Given the description of an element on the screen output the (x, y) to click on. 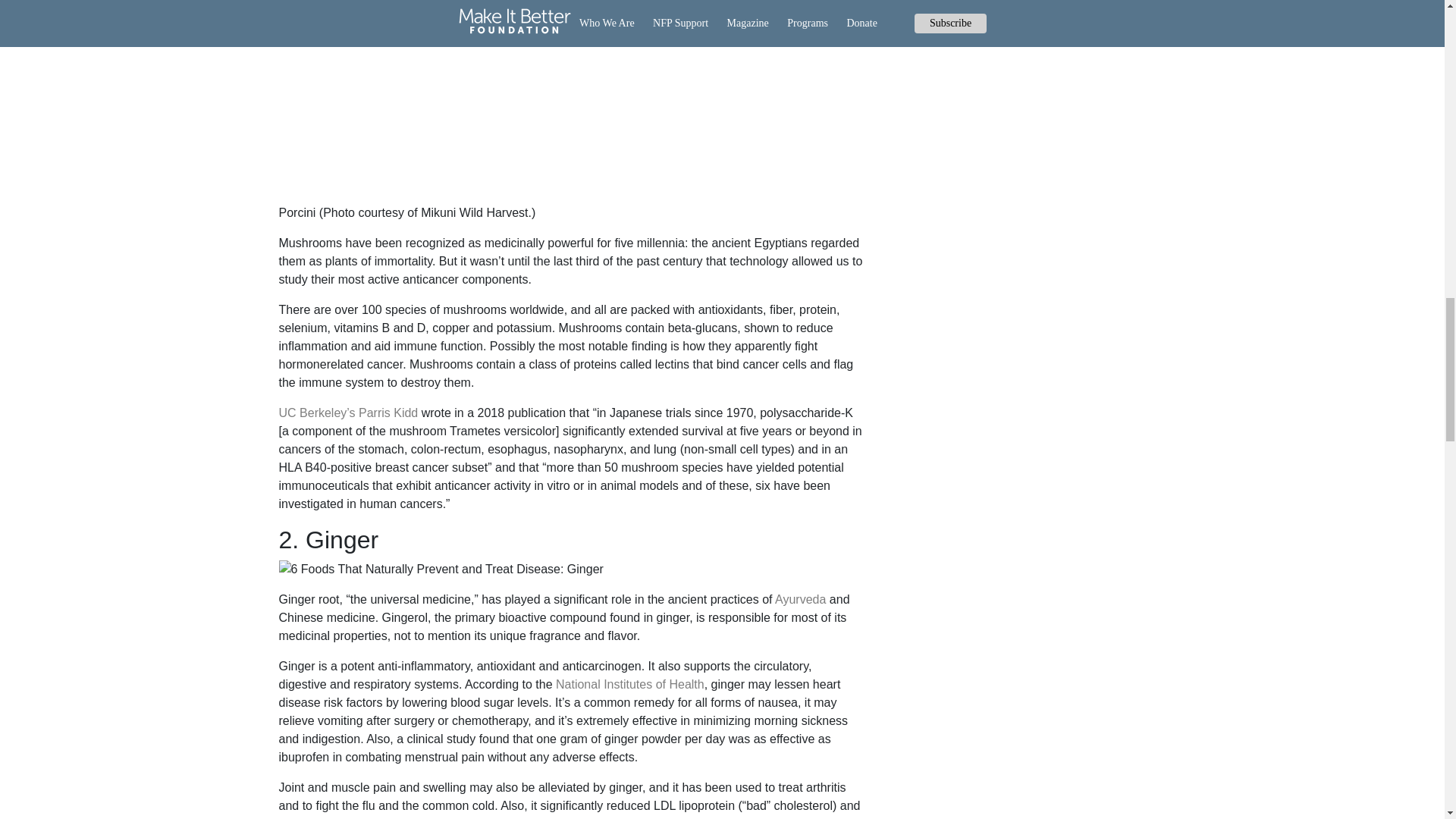
National Institutes of Health (630, 684)
Ayurveda (799, 599)
